Given the description of an element on the screen output the (x, y) to click on. 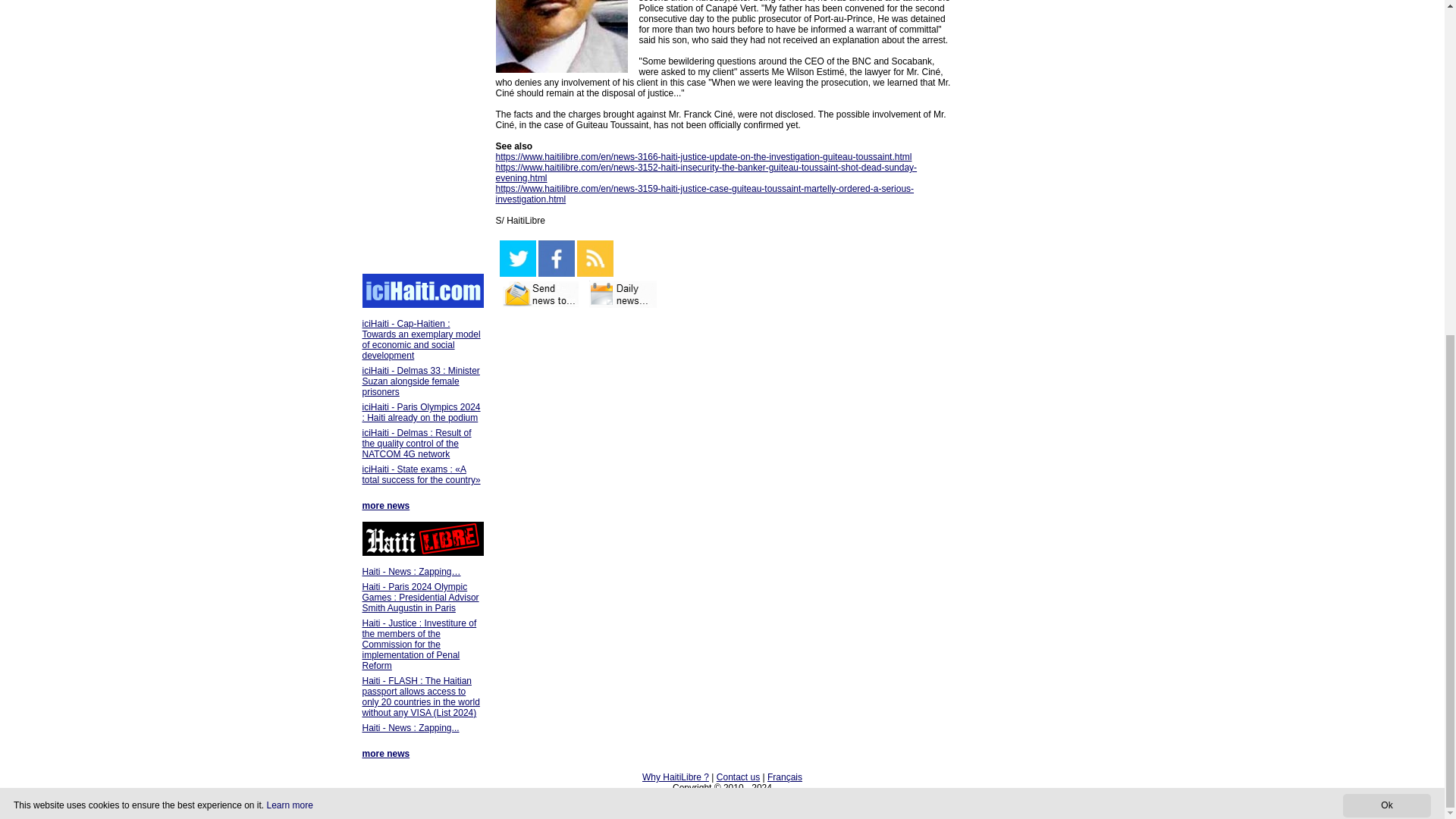
Haiti - News : Zapping... (411, 727)
more news (386, 505)
iciHaiti - Paris Olympics 2024 : Haiti already on the podium (421, 412)
more news (386, 753)
